Given the description of an element on the screen output the (x, y) to click on. 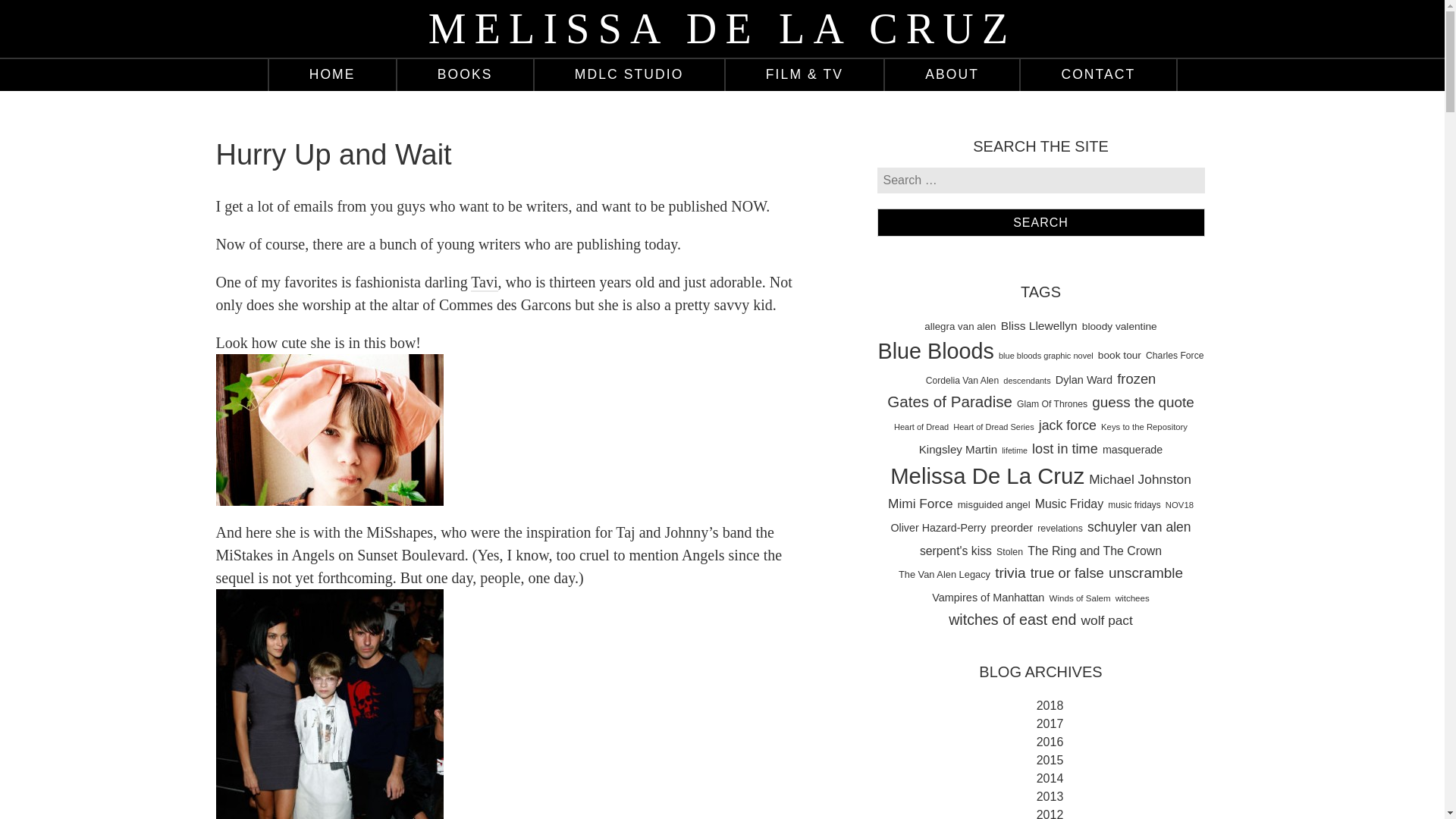
Search (1040, 221)
Heart of Dread Series (993, 427)
Cordelia Van Alen (962, 380)
descendants (1026, 380)
Kingsley Martin (957, 449)
Melissa De La Cruz (986, 475)
allegra van alen (959, 327)
Michael Johnston (1140, 479)
HOME (330, 74)
lost in time (1064, 448)
Gates of Paradise (948, 402)
book tour (1119, 355)
Charles Force (1174, 355)
2018 (1047, 705)
music fridays (1134, 504)
